Given the description of an element on the screen output the (x, y) to click on. 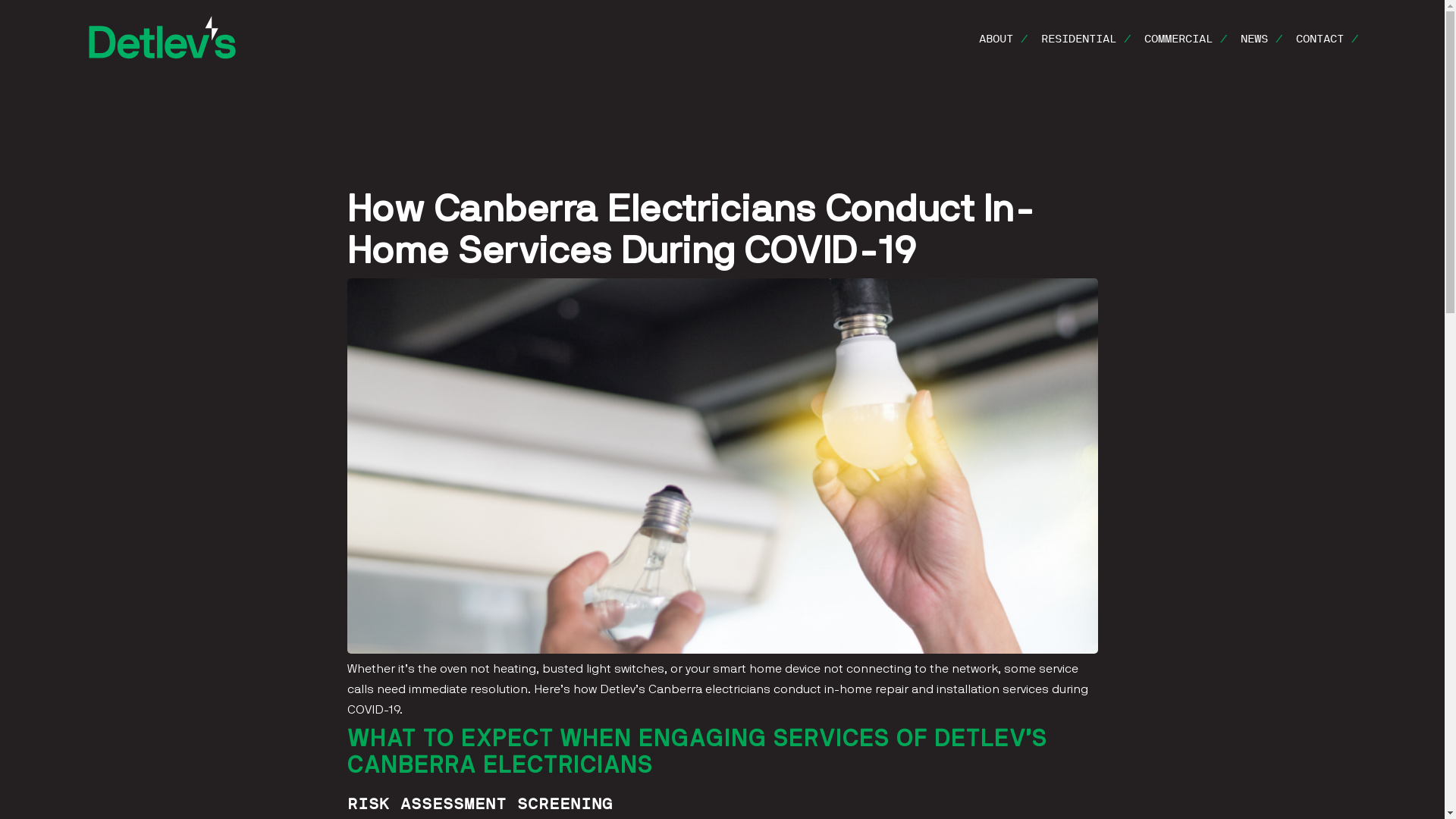
ABOUT Element type: text (1003, 45)
Detlevs Canberra Element type: hover (162, 35)
COMMERCIAL Element type: text (1186, 45)
RESIDENTIAL Element type: text (1086, 45)
CONTACT Element type: text (1323, 45)
NEWS Element type: text (1261, 45)
